Given the description of an element on the screen output the (x, y) to click on. 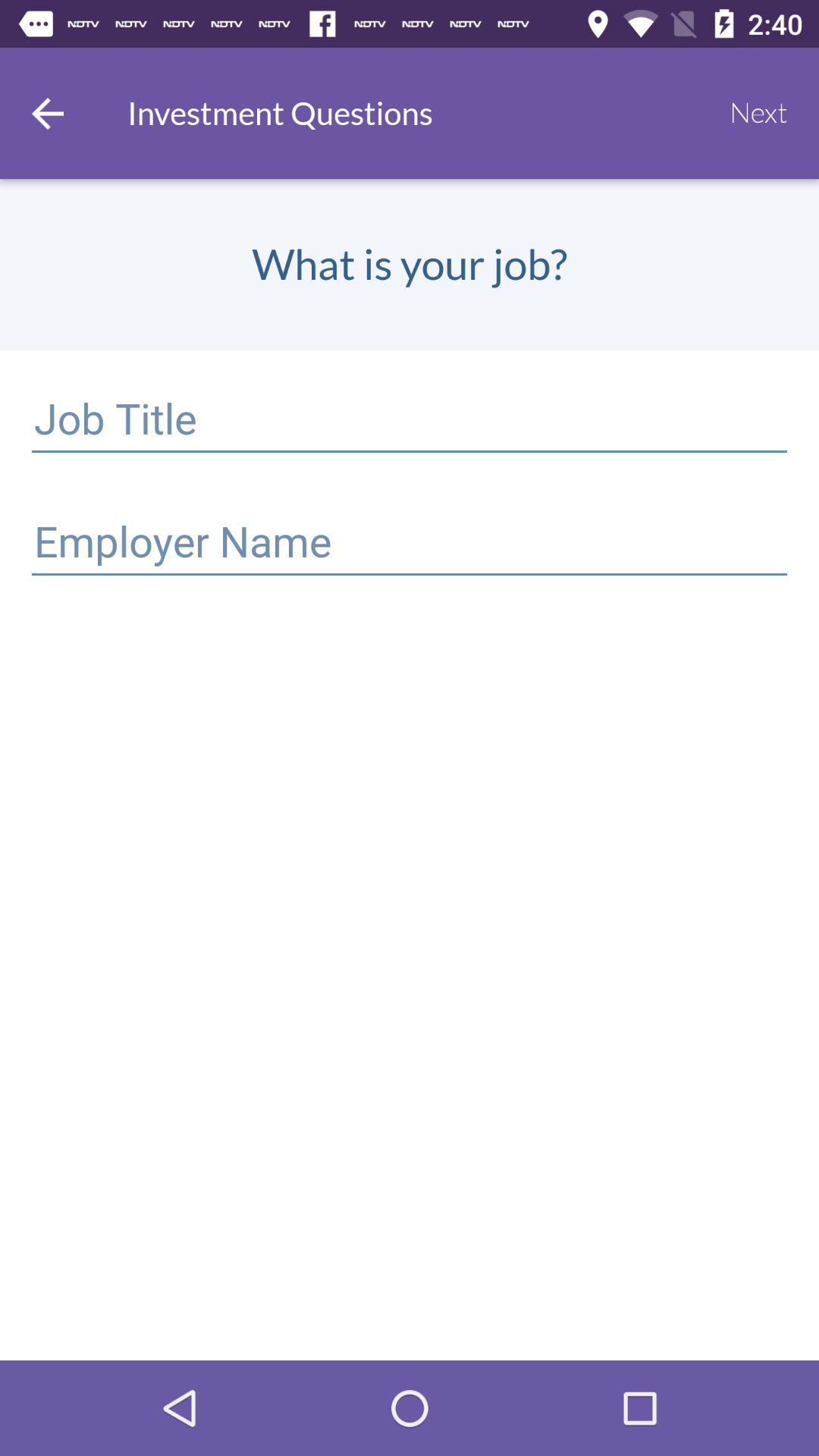
toggle a select option (409, 544)
